Given the description of an element on the screen output the (x, y) to click on. 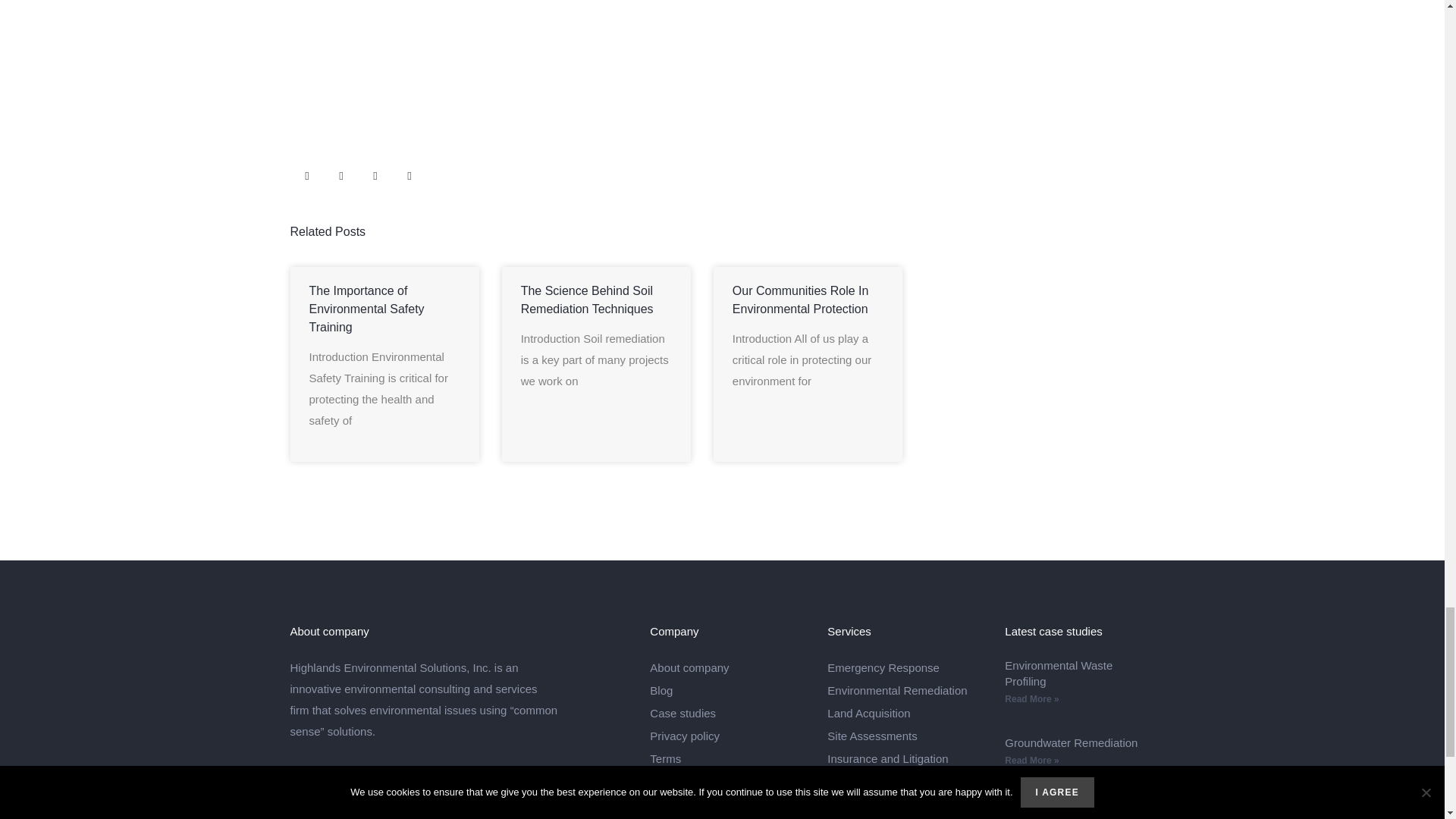
About company (727, 667)
Our Communities Role In Environmental Protection (800, 299)
The Science Behind Soil Remediation Techniques (587, 299)
The Importance of Environmental Safety Training (366, 308)
